Given the description of an element on the screen output the (x, y) to click on. 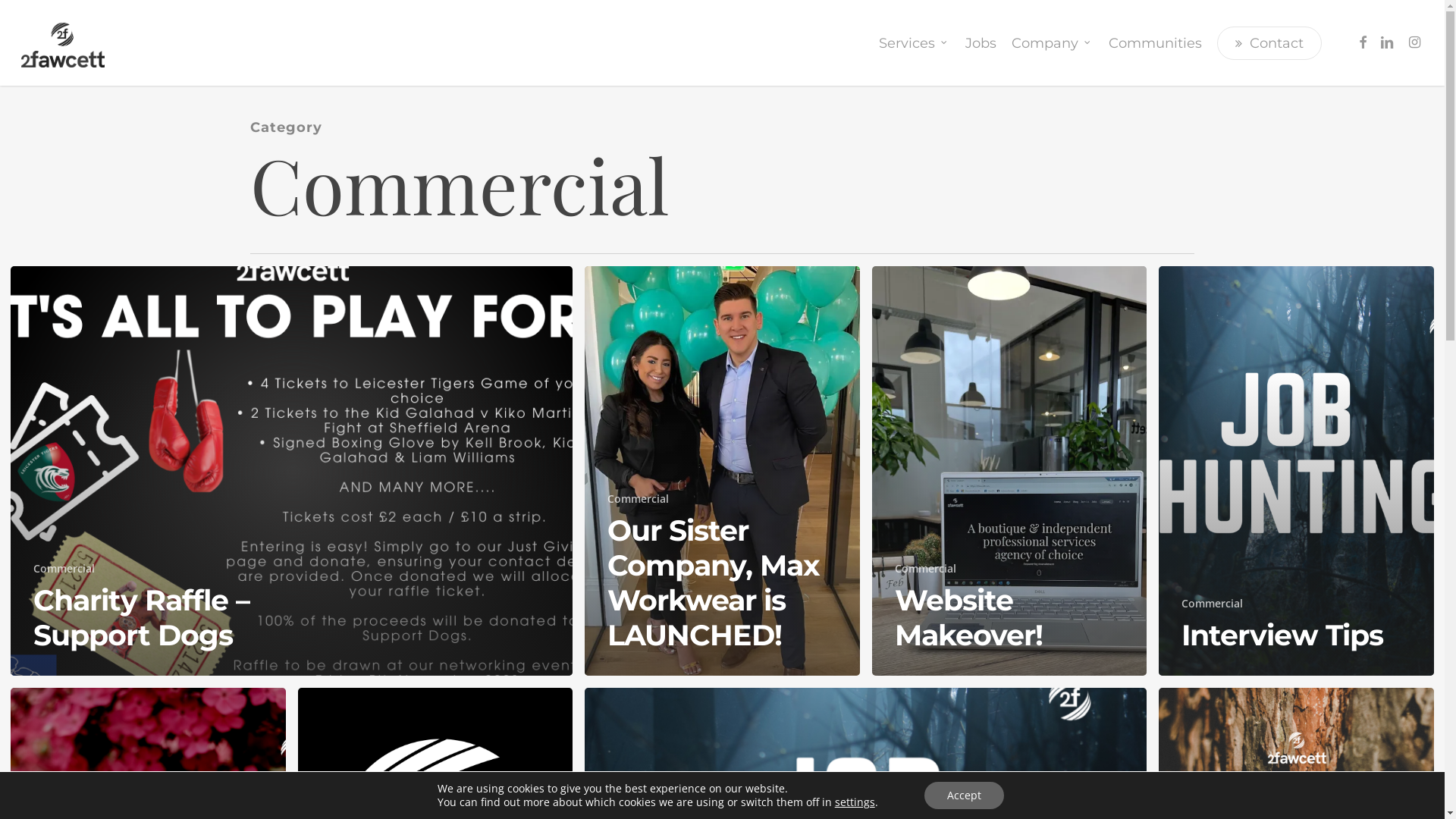
Jobs Element type: text (980, 42)
Website Makeover! Element type: text (968, 617)
Commercial Element type: text (63, 568)
Communities Element type: text (1154, 42)
Accept Element type: text (964, 795)
Contact Element type: text (1269, 42)
Interview Tips Element type: text (1282, 634)
Our Sister Company, Max Workwear is LAUNCHED! Element type: text (713, 582)
Commercial Element type: text (1211, 603)
Instagram Element type: text (1413, 42)
Commercial Element type: text (637, 498)
Commercial Element type: text (925, 568)
Linkedin Element type: text (1386, 42)
Services Element type: text (914, 42)
Company Element type: text (1052, 42)
Facebook Element type: text (1362, 42)
